Given the description of an element on the screen output the (x, y) to click on. 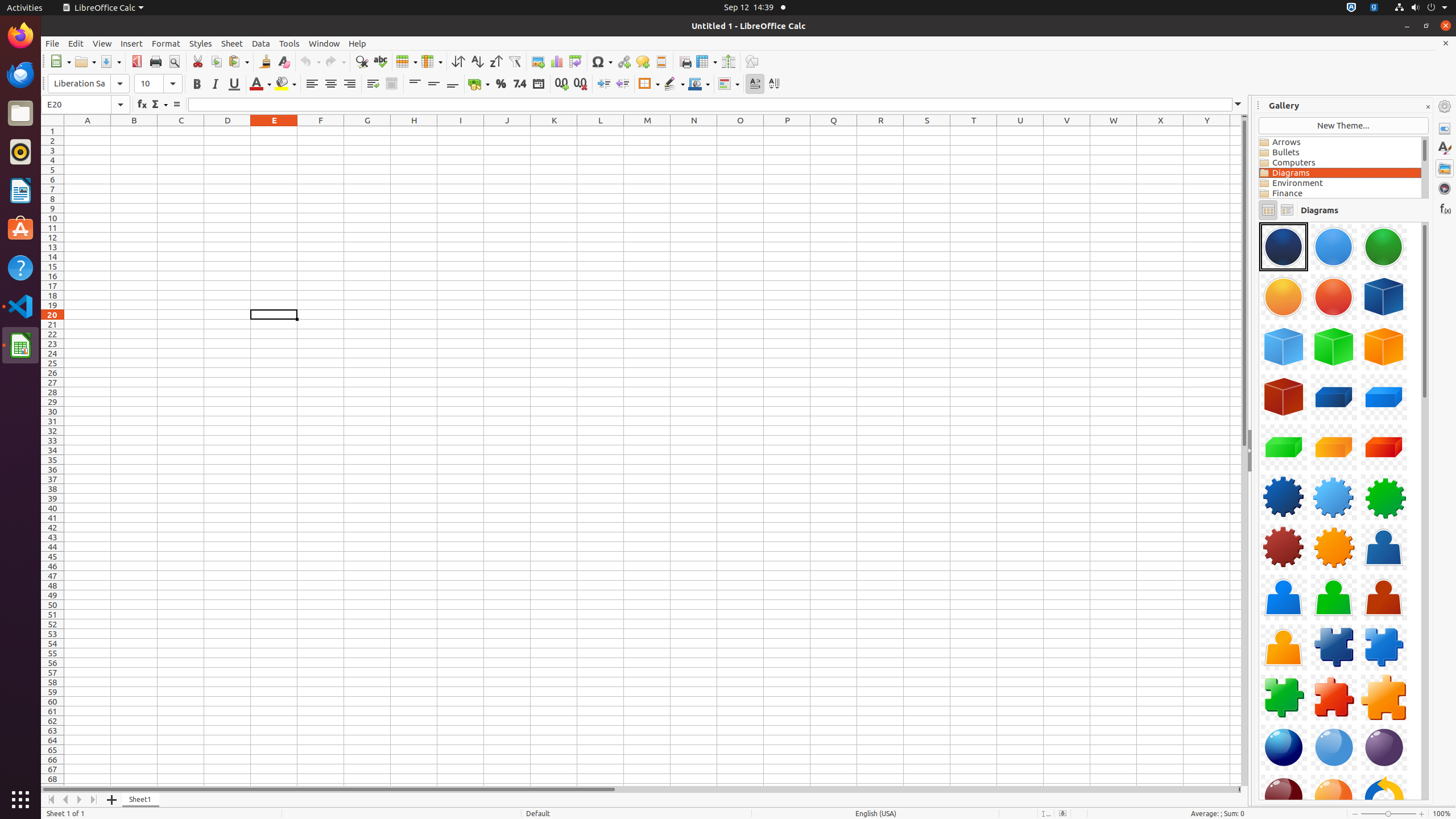
Component-Sphere02-LightBlue Element type: list-item (1333, 746)
Sort Ascending Element type: push-button (476, 61)
Component-Sphere03-Green Element type: list-item (1383, 746)
Component-Circle03-Transparent-Green Element type: list-item (1383, 246)
Print Area Element type: push-button (684, 61)
